Given the description of an element on the screen output the (x, y) to click on. 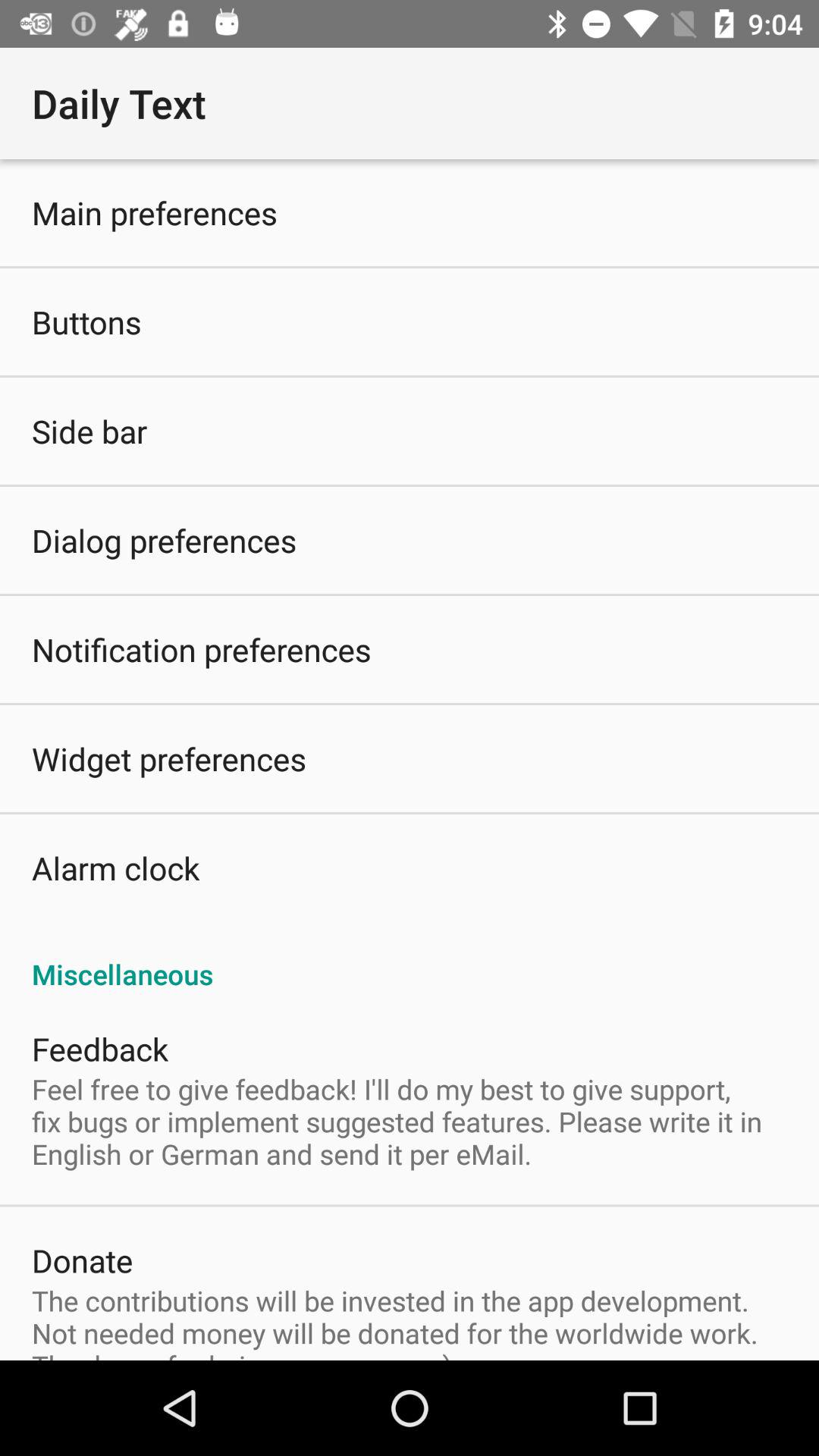
flip to the side bar item (89, 430)
